Given the description of an element on the screen output the (x, y) to click on. 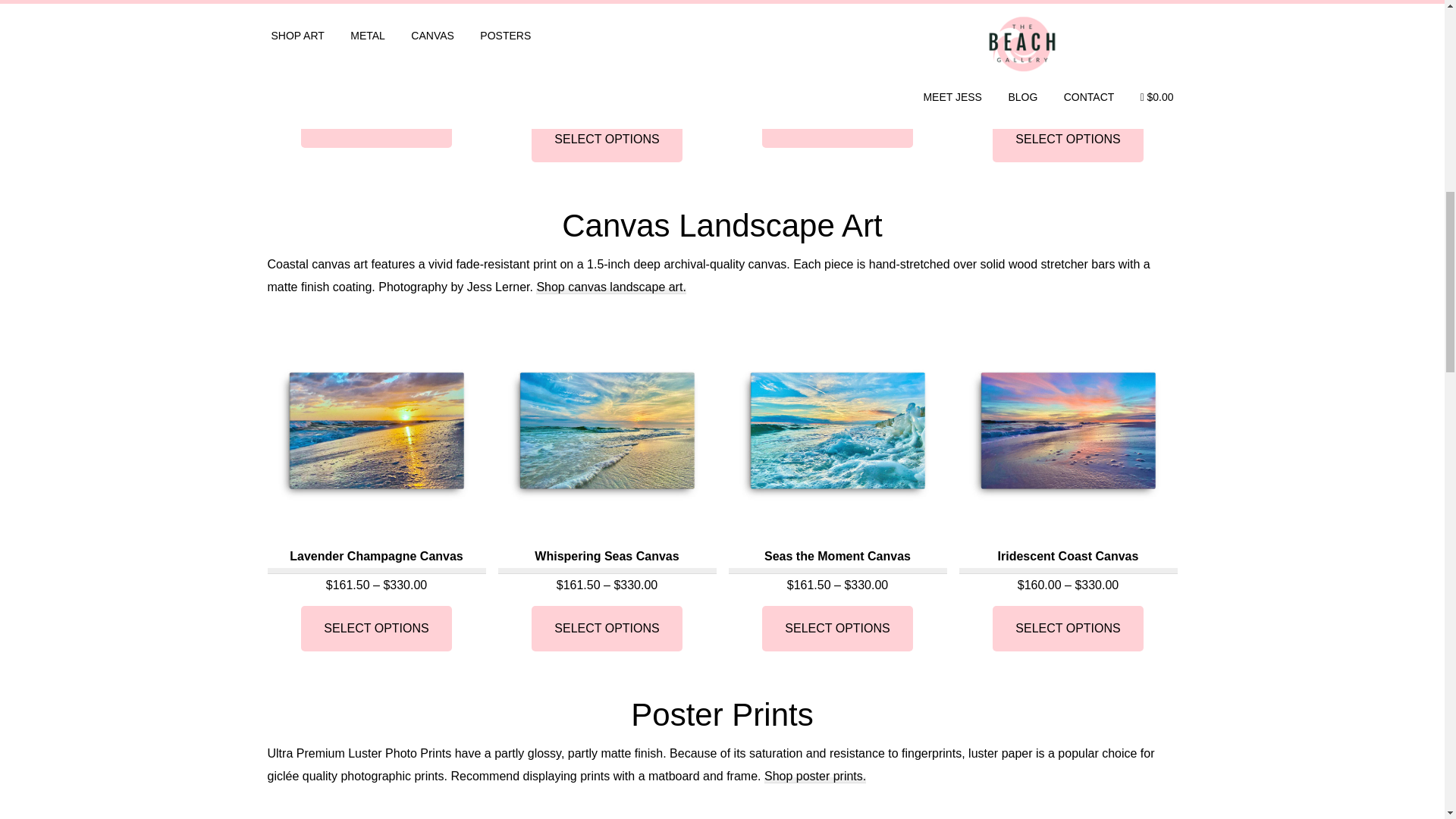
SELECT OPTIONS (1067, 139)
SELECT OPTIONS (376, 125)
SELECT OPTIONS (836, 125)
SELECT OPTIONS (1067, 628)
Solitary Heron and Soft Pink Skies Metal Print (606, 42)
Lost My Heart to the Ocean Metal Print (1067, 42)
Shop poster prints. (815, 775)
Long Walks on the Beach Metal Print (837, 34)
SELECT OPTIONS (836, 628)
Sweet Surrender Metal Print (375, 34)
SELECT OPTIONS (606, 139)
SELECT OPTIONS (606, 628)
SELECT OPTIONS (376, 628)
Shop canvas landscape art. (610, 287)
